Given the description of an element on the screen output the (x, y) to click on. 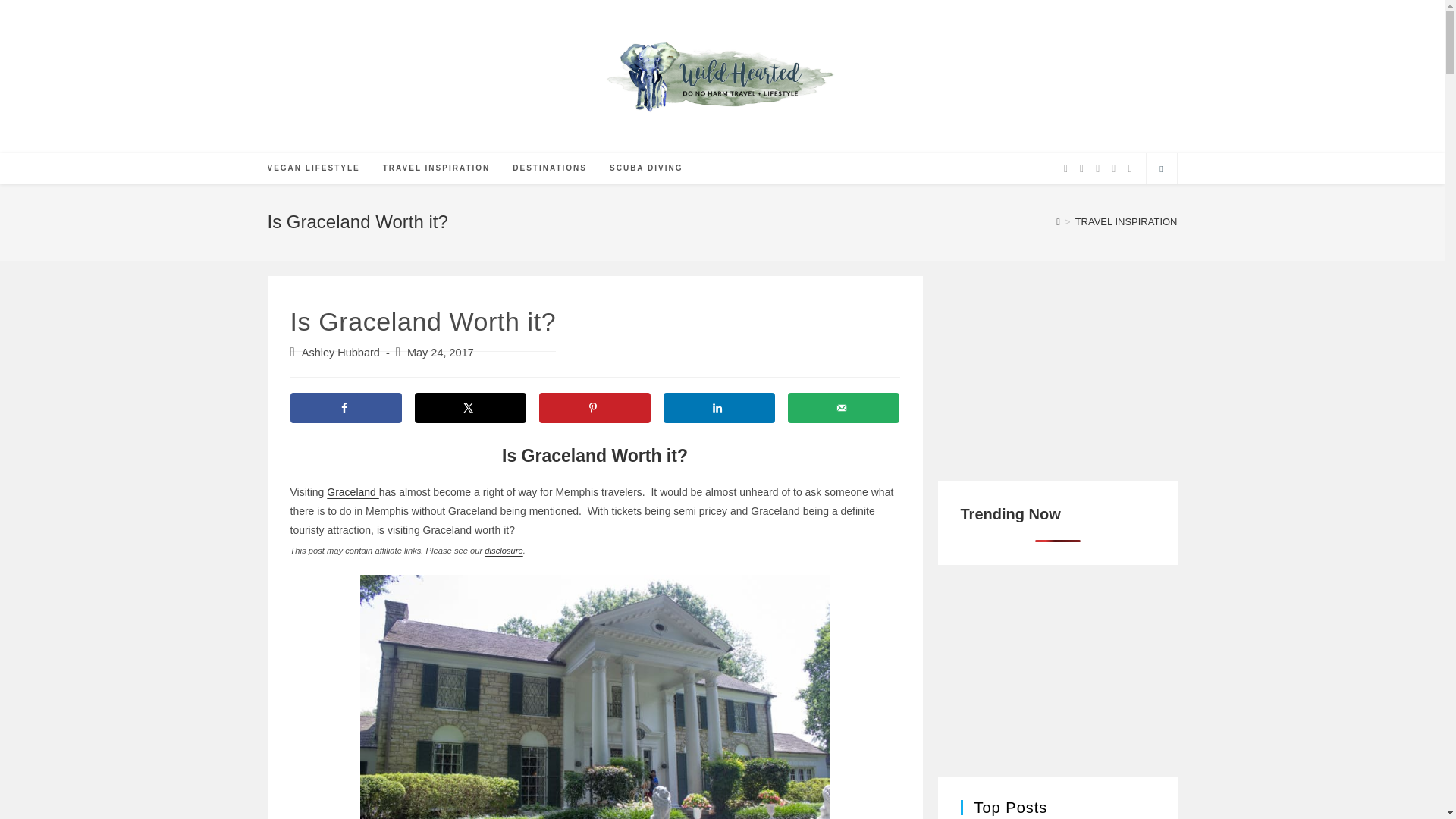
DESTINATIONS (549, 168)
Save to Pinterest (594, 408)
Share on LinkedIn (718, 408)
Share on Facebook (345, 408)
Send over email (843, 408)
TRAVEL INSPIRATION (436, 168)
SCUBA DIVING (646, 168)
Posts by Ashley Hubbard (340, 352)
Share on X (469, 408)
VEGAN LIFESTYLE (313, 168)
